Given the description of an element on the screen output the (x, y) to click on. 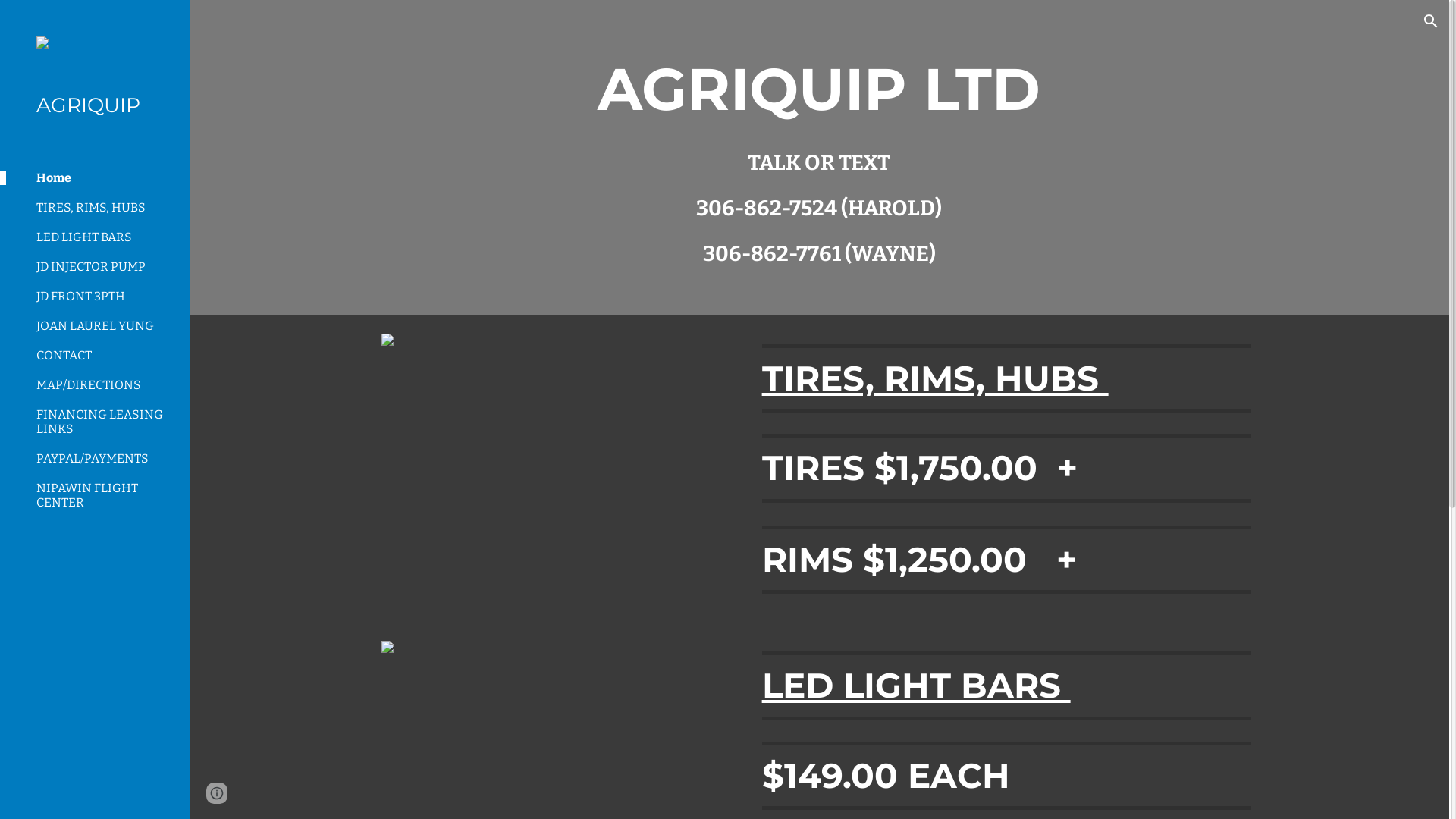
LED LIGHT BARS Element type: text (106, 236)
TIRES, RIMS, HUBS Element type: text (106, 207)
LED LIGHT BARS  Element type: text (916, 685)
NIPAWIN FLIGHT CENTER Element type: text (106, 494)
PAYPAL/PAYMENTS Element type: text (106, 458)
JD FRONT 3PTH Element type: text (106, 295)
AGRIQUIP Element type: text (100, 105)
Home Element type: text (106, 177)
TIRES, RIMS, HUBS  Element type: text (935, 377)
$149.00 EACH Element type: text (886, 775)
JD INJECTOR PUMP Element type: text (106, 266)
CONTACT Element type: text (106, 355)
JOAN LAUREL YUNG Element type: text (106, 325)
FINANCING LEASING LINKS Element type: text (106, 421)
MAP/DIRECTIONS Element type: text (106, 384)
